Given the description of an element on the screen output the (x, y) to click on. 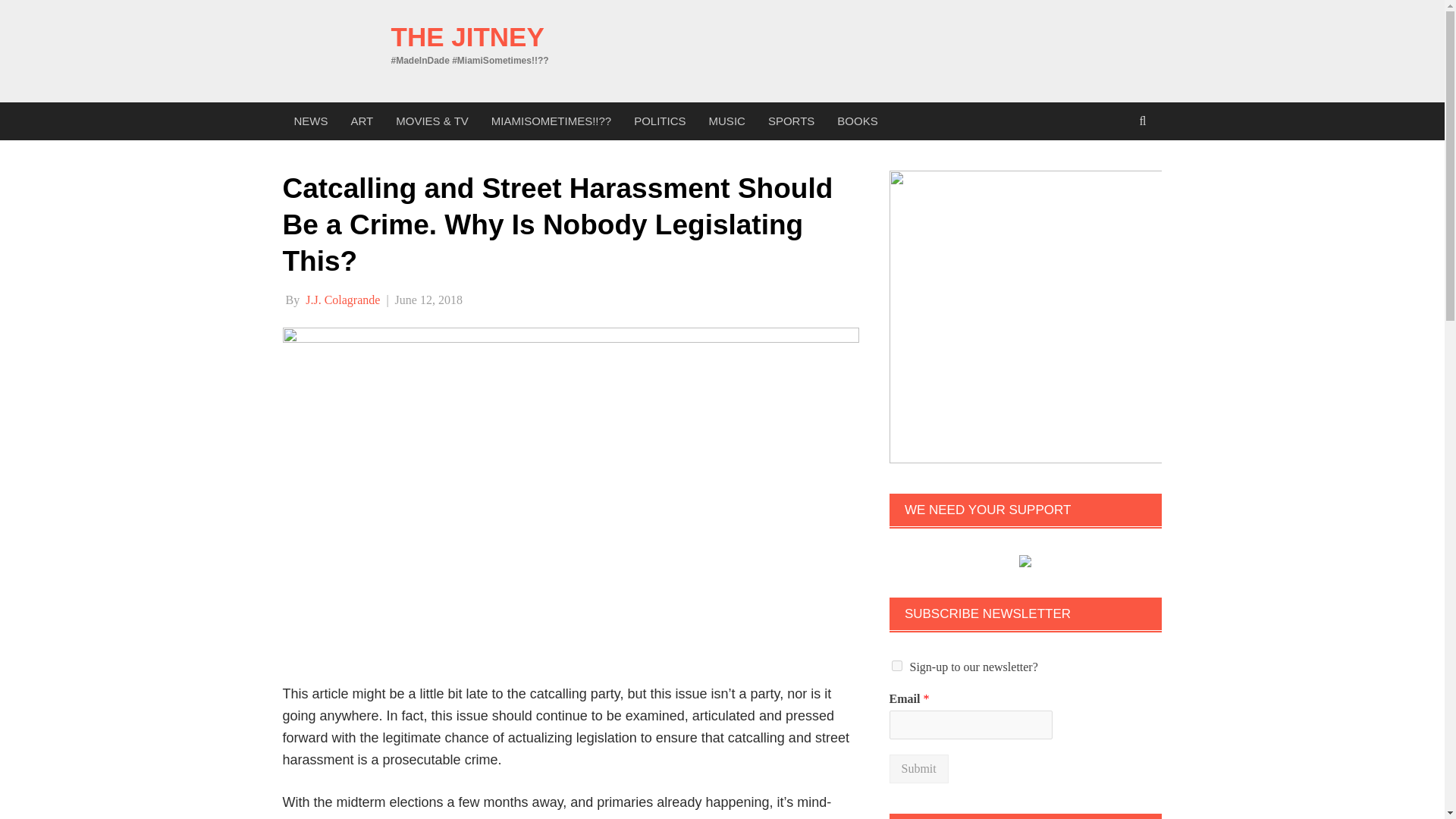
J.J. Colagrande (342, 299)
ART (362, 121)
MUSIC (727, 121)
THE JITNEY (467, 36)
SPORTS (791, 121)
BOOKS (856, 121)
NEWS (310, 121)
1 (896, 665)
POLITICS (660, 121)
Submit (917, 768)
